Given the description of an element on the screen output the (x, y) to click on. 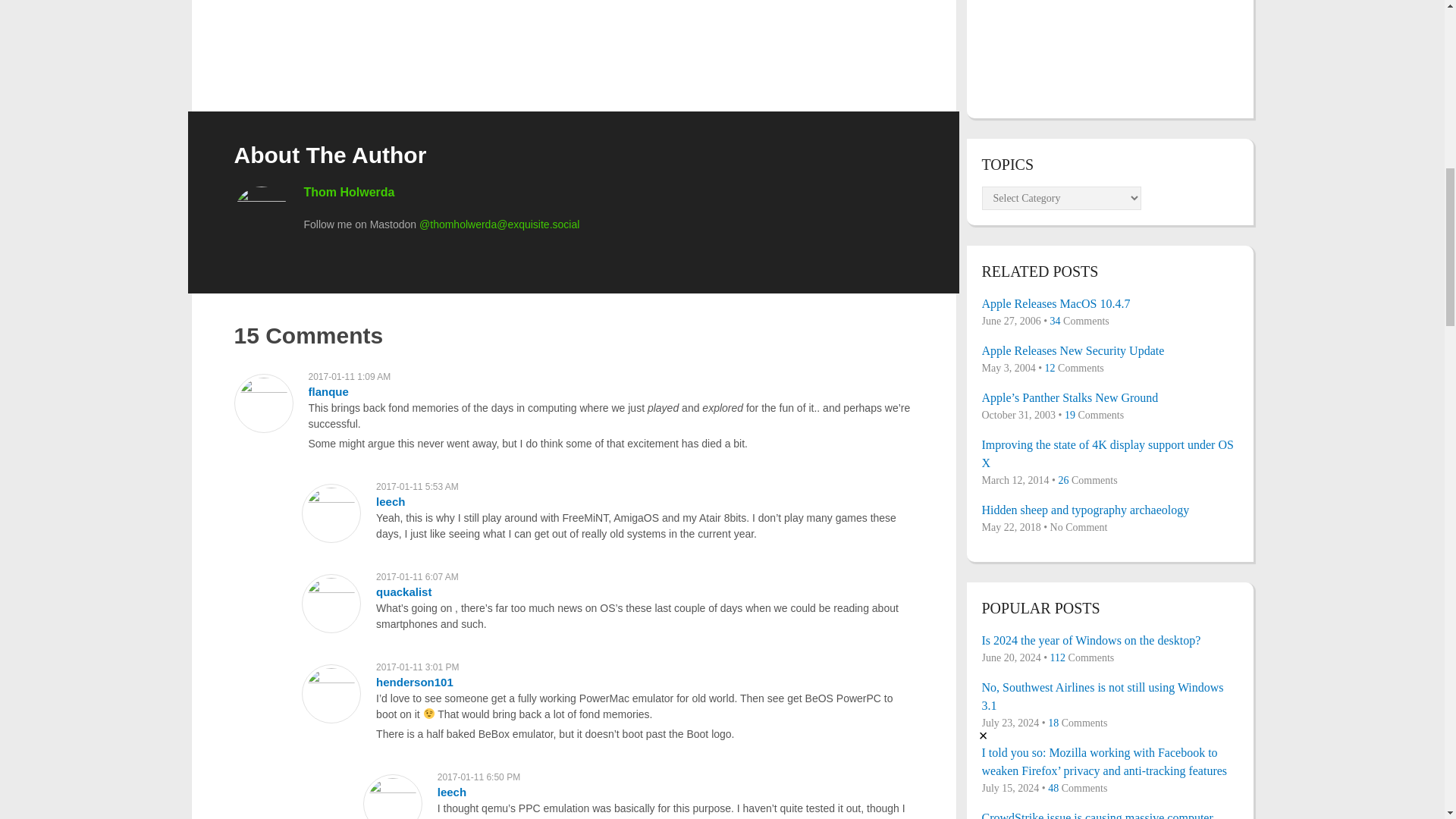
flanque (327, 391)
quackalist (402, 591)
leech (451, 791)
Thom Holwerda (348, 192)
leech (389, 501)
henderson101 (413, 681)
